Given the description of an element on the screen output the (x, y) to click on. 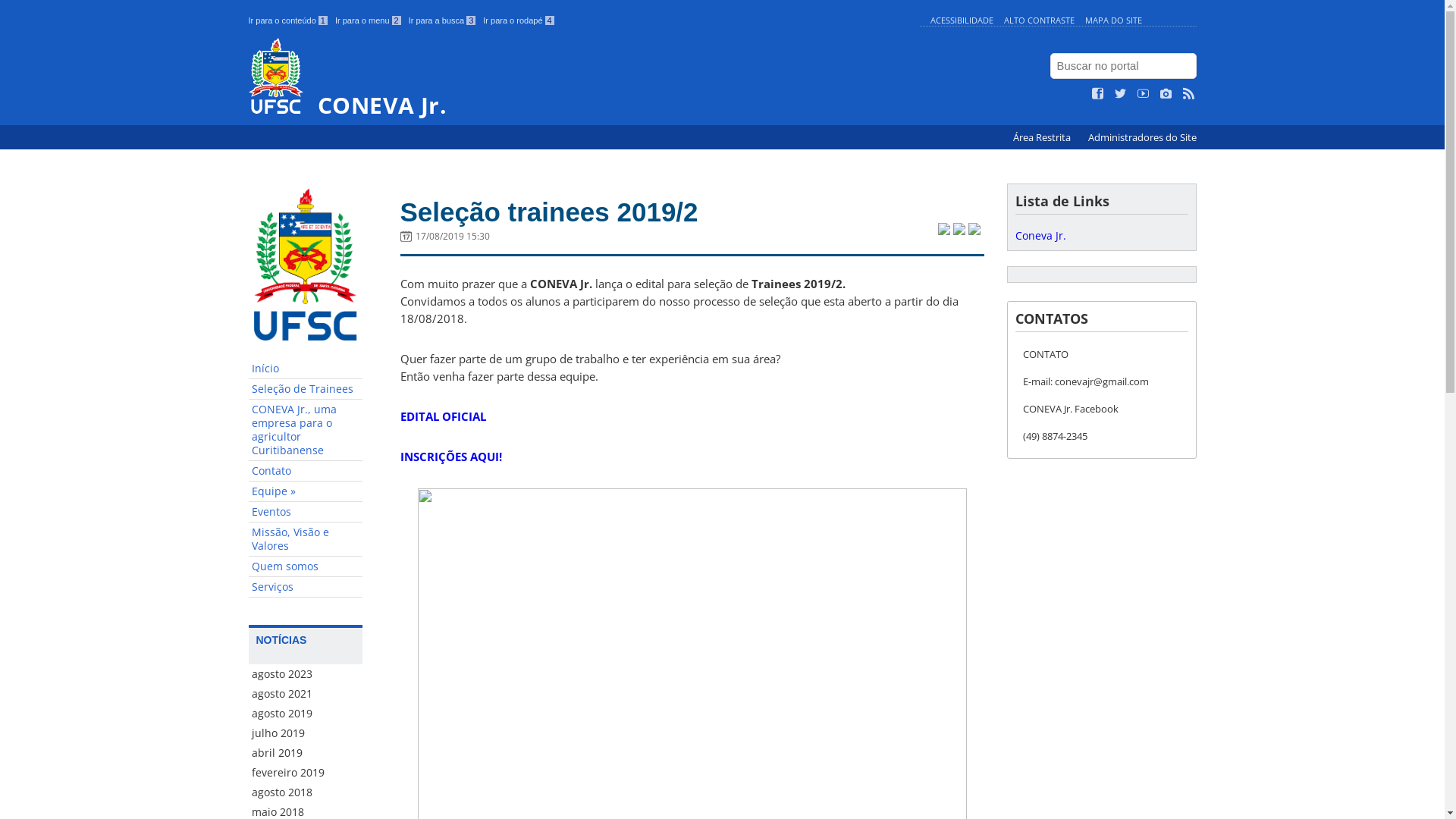
julho 2019 Element type: text (305, 733)
Compartilhar no Twitter Element type: hover (943, 230)
Veja no Instagram Element type: hover (1166, 93)
Coneva Jr. Element type: text (1039, 235)
ACESSIBILIDADE Element type: text (960, 19)
Siga no Twitter Element type: hover (1120, 93)
CONEVA Jr. Element type: text (580, 77)
agosto 2021 Element type: text (305, 693)
Ir para o menu 2 Element type: text (368, 20)
Compartilhar no WhatsApp Element type: hover (973, 230)
agosto 2019 Element type: text (305, 713)
Administradores do Site Element type: text (1141, 137)
CONEVA Jr., uma empresa para o agricultor Curitibanense Element type: text (305, 430)
ALTO CONTRASTE Element type: text (1039, 19)
Contato Element type: text (305, 471)
agosto 2023 Element type: text (305, 674)
fevereiro 2019 Element type: text (305, 772)
agosto 2018 Element type: text (305, 792)
EDITAL OFICIAL Element type: text (443, 415)
Eventos Element type: text (305, 512)
Compartilhar no Facebook Element type: hover (958, 230)
Curta no Facebook Element type: hover (1098, 93)
abril 2019 Element type: text (305, 752)
MAPA DO SITE Element type: text (1112, 19)
Ir para a busca 3 Element type: text (442, 20)
Quem somos Element type: text (305, 566)
